Given the description of an element on the screen output the (x, y) to click on. 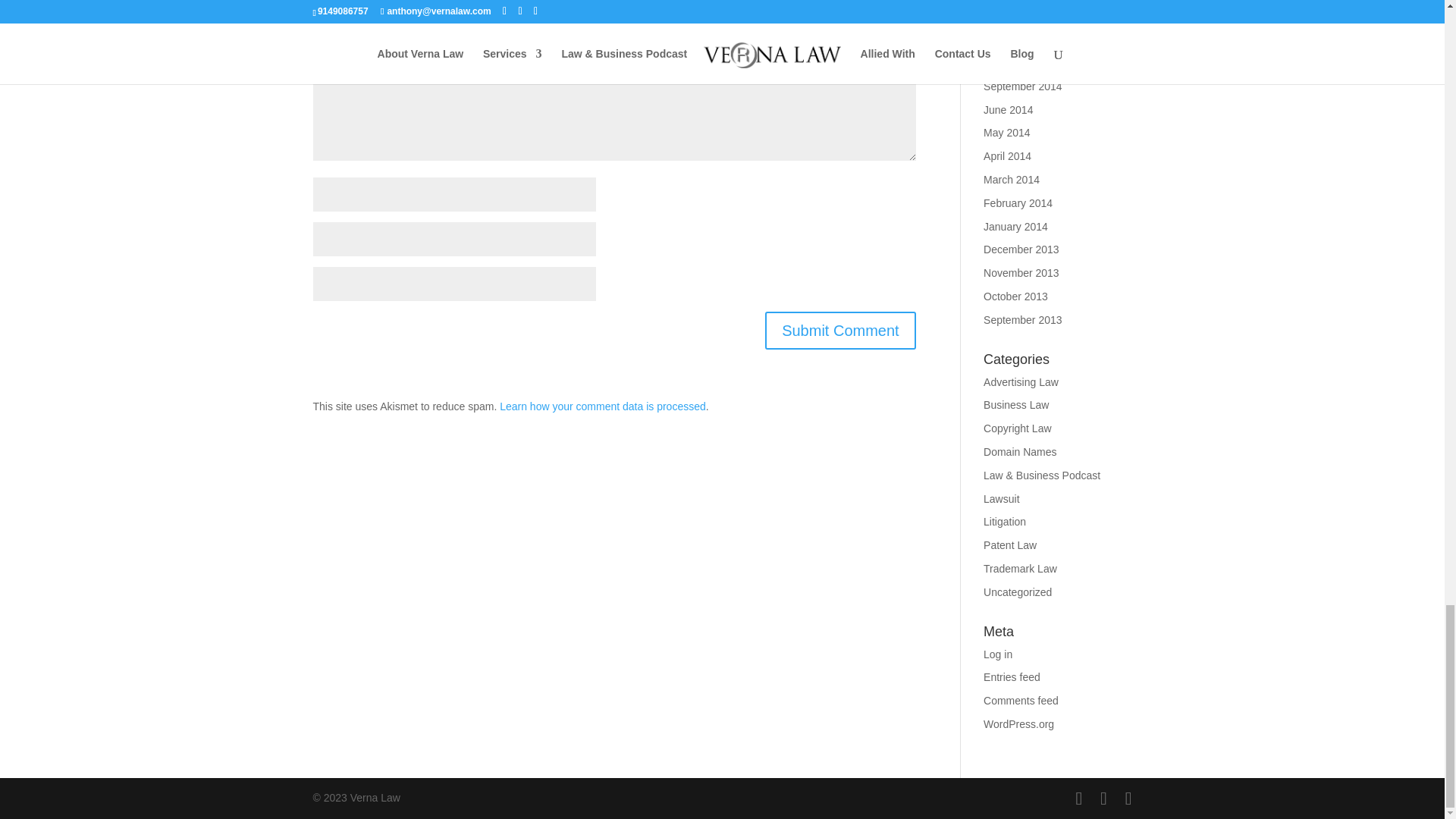
Submit Comment (840, 330)
